Given the description of an element on the screen output the (x, y) to click on. 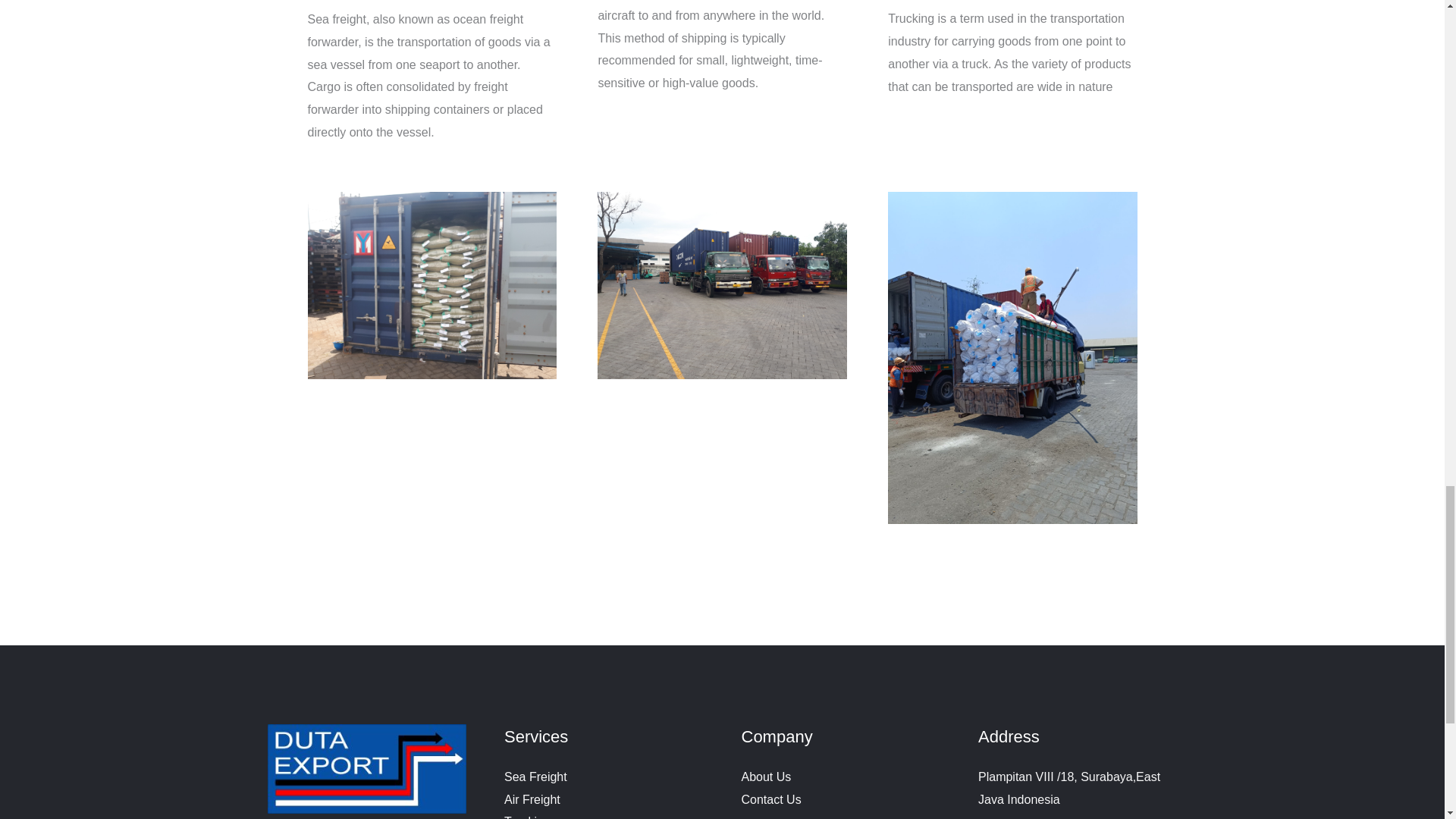
Trucking (526, 816)
Contact Us (771, 799)
Air Freight (531, 799)
About Us (766, 776)
Sea Freight (535, 776)
